Given the description of an element on the screen output the (x, y) to click on. 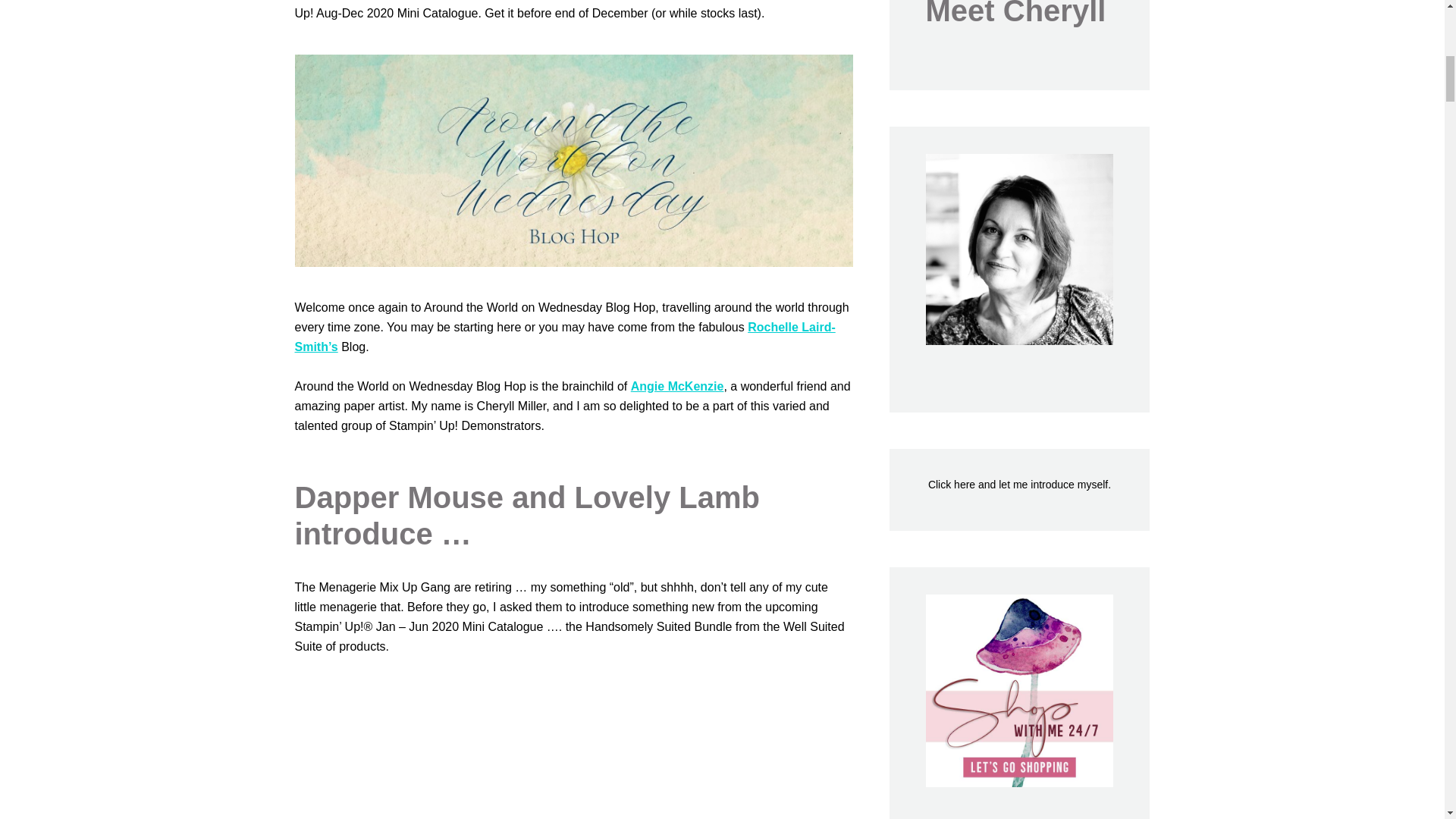
Menagerie Mix Up Mash Up (572, 753)
